Given the description of an element on the screen output the (x, y) to click on. 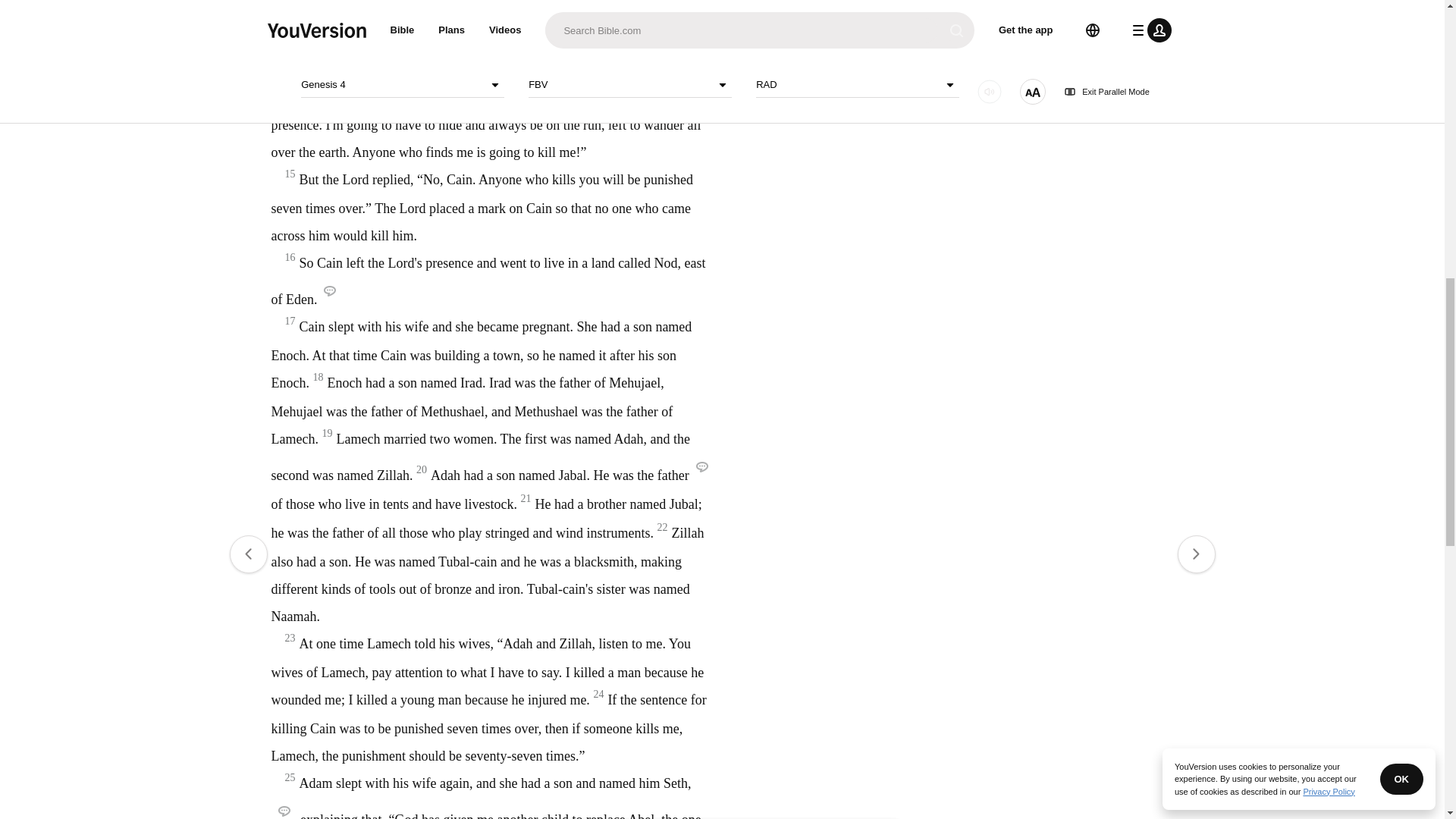
Sign up or sign in (774, 245)
Genesis 4: FBV (616, 47)
